Given the description of an element on the screen output the (x, y) to click on. 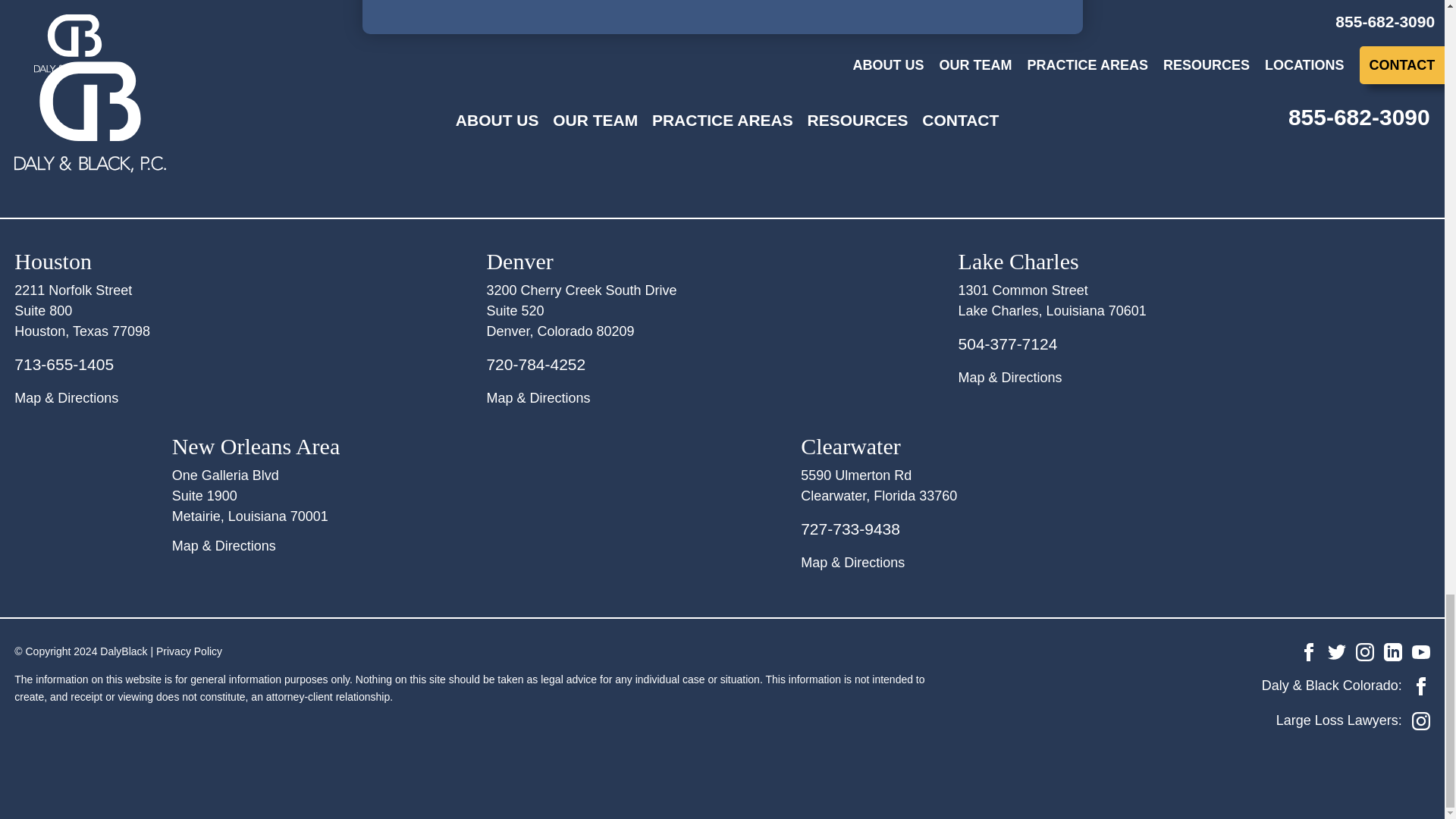
Get Driving Directions (250, 398)
Get Driving Directions (1193, 377)
find us on twitter (1336, 651)
find us on facebook (1420, 686)
find us on instagram (1420, 720)
Get Driving Directions (407, 546)
Get Driving Directions (722, 398)
find us on youtube-play (1420, 651)
Privacy Policy (188, 651)
find us on instagram (1364, 651)
Get Driving Directions (1036, 562)
find us on linkedin (1393, 651)
find us on facebook (1308, 651)
